Given the description of an element on the screen output the (x, y) to click on. 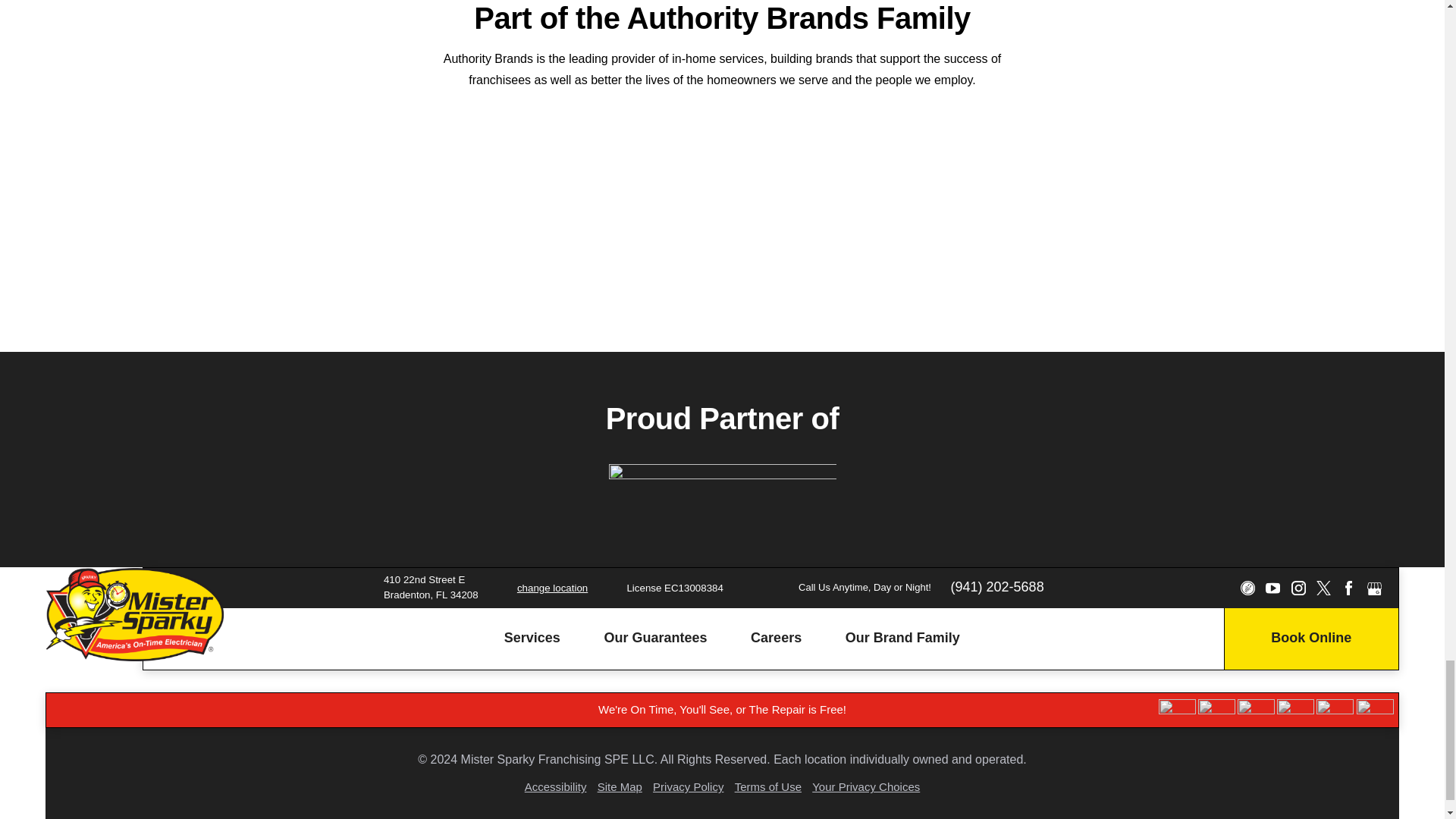
YouTube (1272, 587)
Google My Business (1374, 587)
Instagram (1297, 587)
CareerPlug (1247, 587)
Twitter (1323, 587)
Facebook (1347, 587)
